Given the description of an element on the screen output the (x, y) to click on. 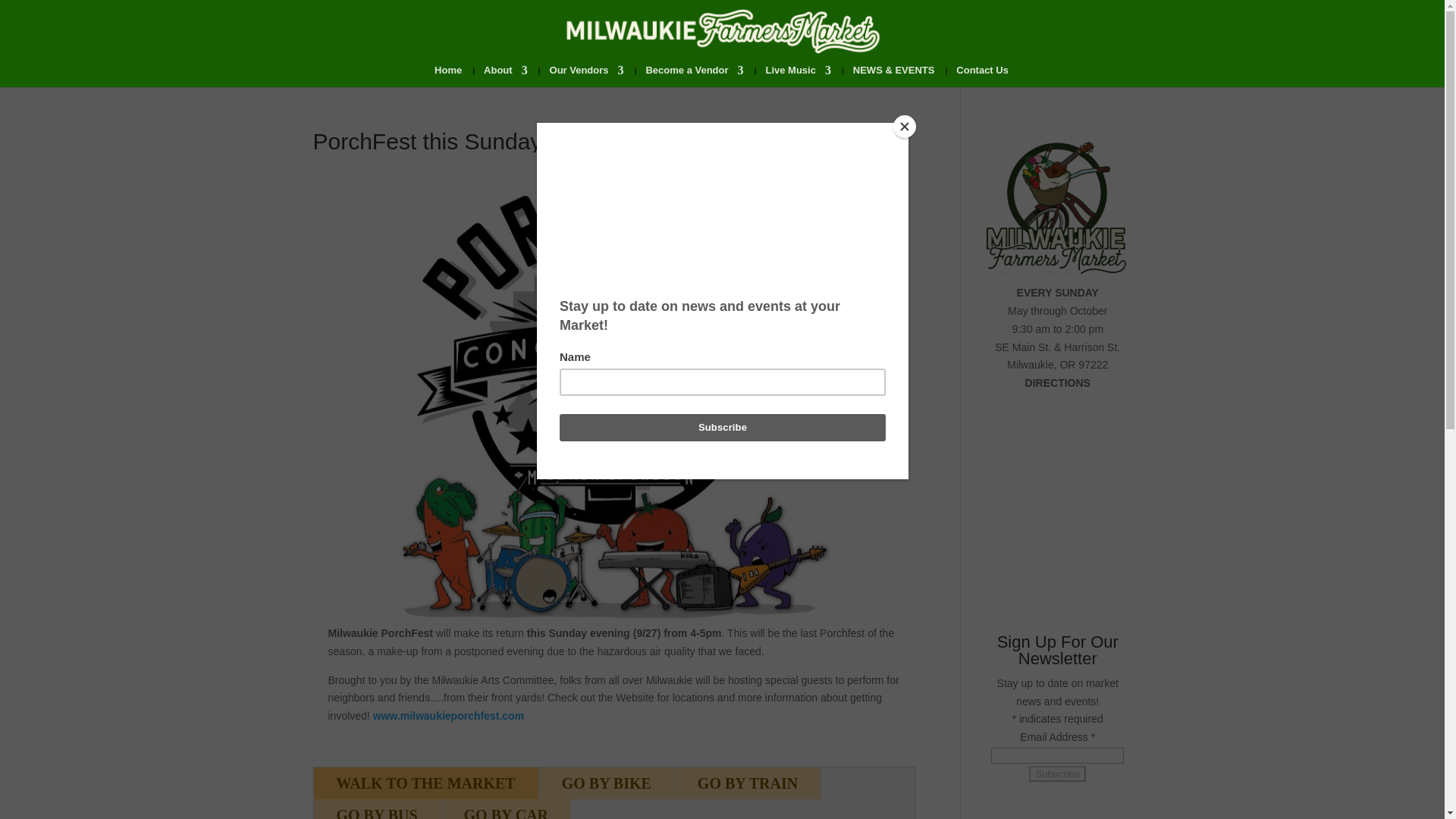
GO BY BIKE (606, 783)
Contact Us (982, 75)
WALK TO THE MARKET (426, 783)
Home (447, 75)
About (505, 75)
Become a Vendor (693, 75)
Our Vendors (587, 75)
Live Music (797, 75)
GO BY BUS (377, 809)
www.milwaukieporchfest.com (448, 715)
Subscribe (1057, 773)
GO BY TRAIN (748, 783)
